Given the description of an element on the screen output the (x, y) to click on. 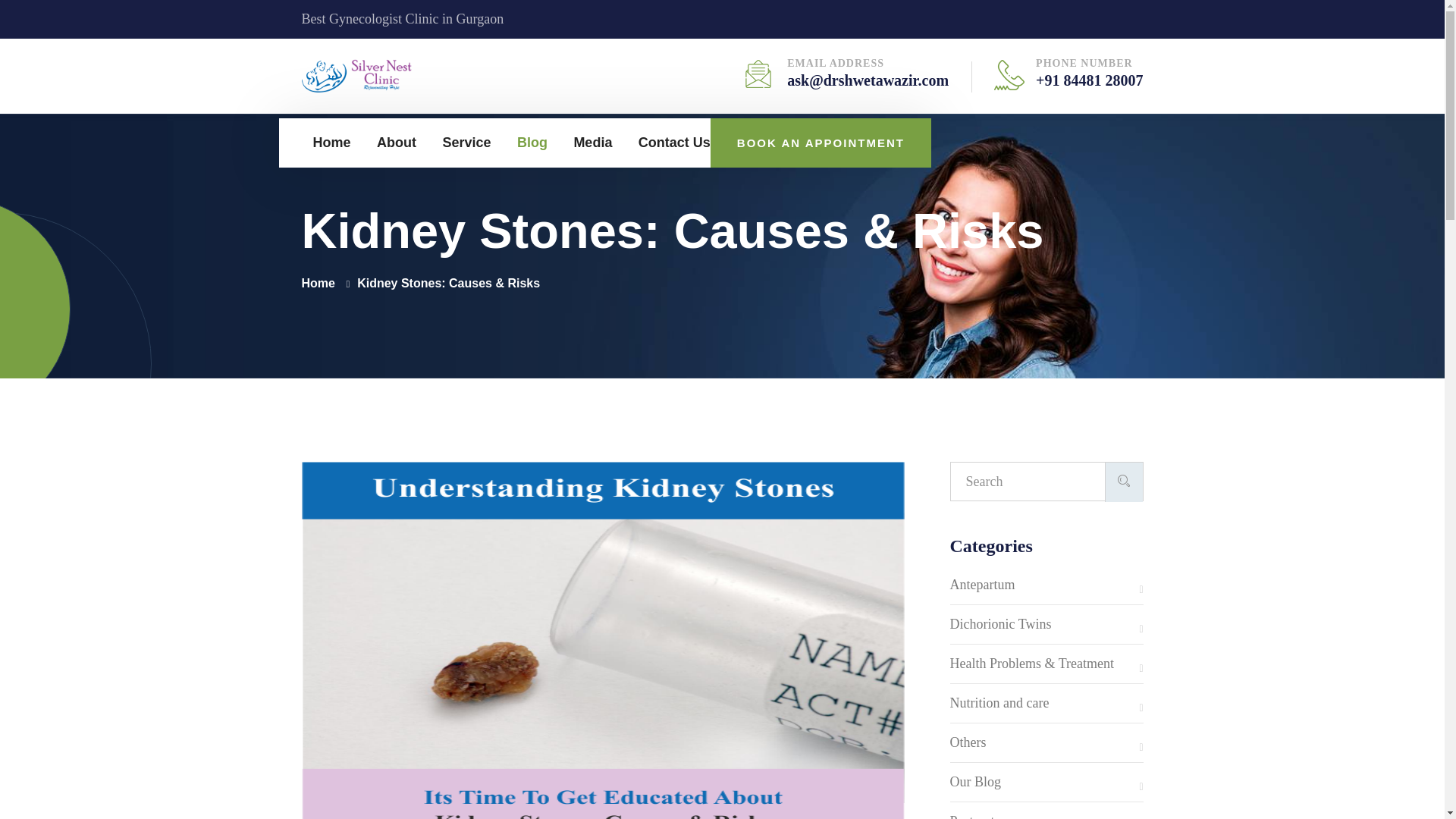
About (396, 142)
Home (331, 142)
Service (466, 142)
About (396, 142)
Home (331, 142)
Dr. Shweta Bansal Wazir (357, 74)
Service (466, 142)
